Given the description of an element on the screen output the (x, y) to click on. 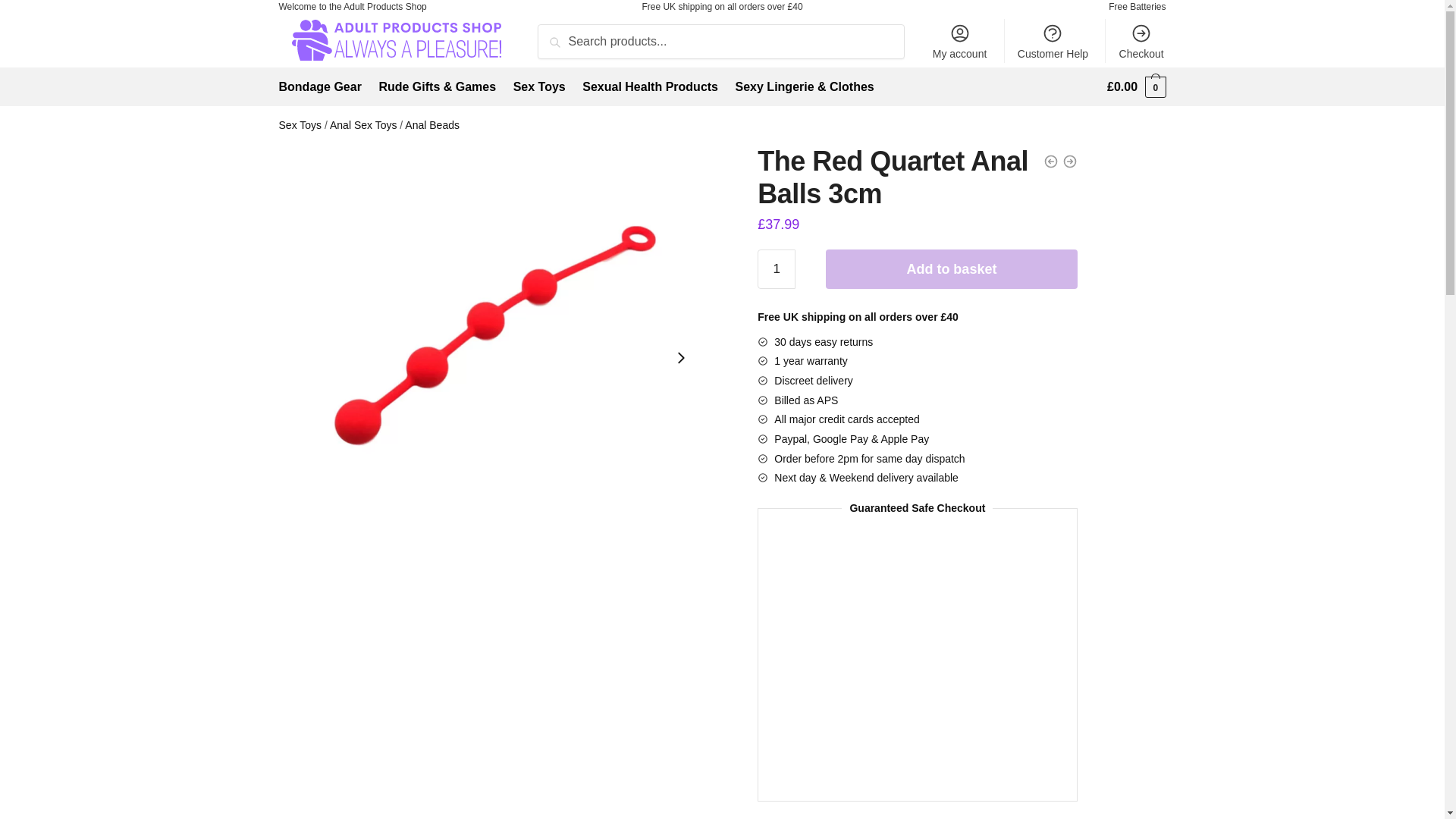
Bondage Gear (323, 86)
1 (775, 269)
Sex Toys (300, 124)
Checkout (1141, 40)
Anal Beads (432, 124)
Sex Toys (539, 86)
Customer Help (1053, 40)
Search (561, 34)
View your shopping cart (1136, 86)
